Given the description of an element on the screen output the (x, y) to click on. 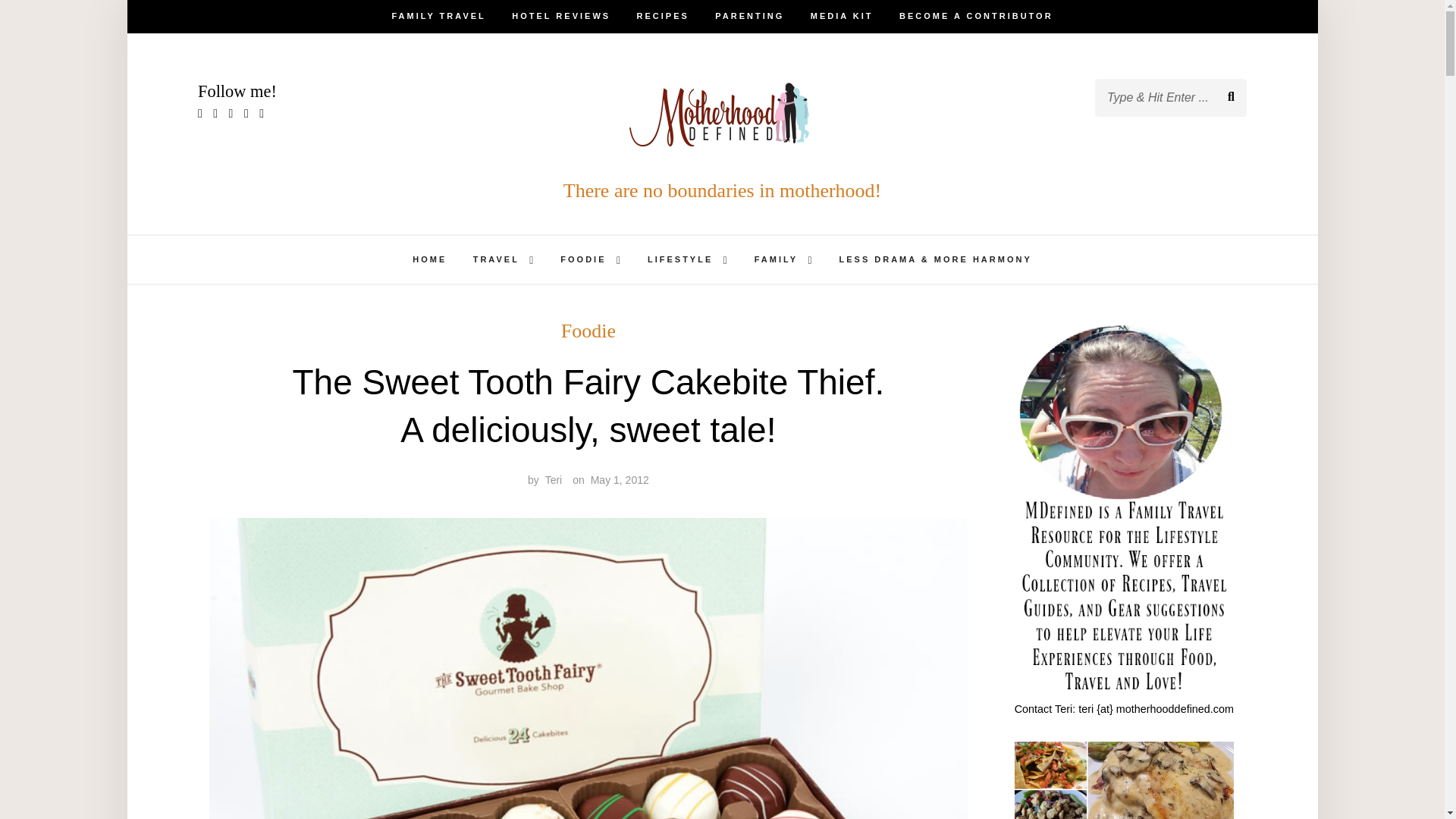
Submit (64, 23)
FAMILY TRAVEL (437, 16)
expand child menu (530, 260)
TRAVEL (496, 259)
BECOME A CONTRIBUTOR (975, 16)
HOME (429, 259)
PARENTING (749, 16)
HOTEL REVIEWS (561, 16)
MEDIA KIT (841, 16)
RECIPES (662, 16)
